Given the description of an element on the screen output the (x, y) to click on. 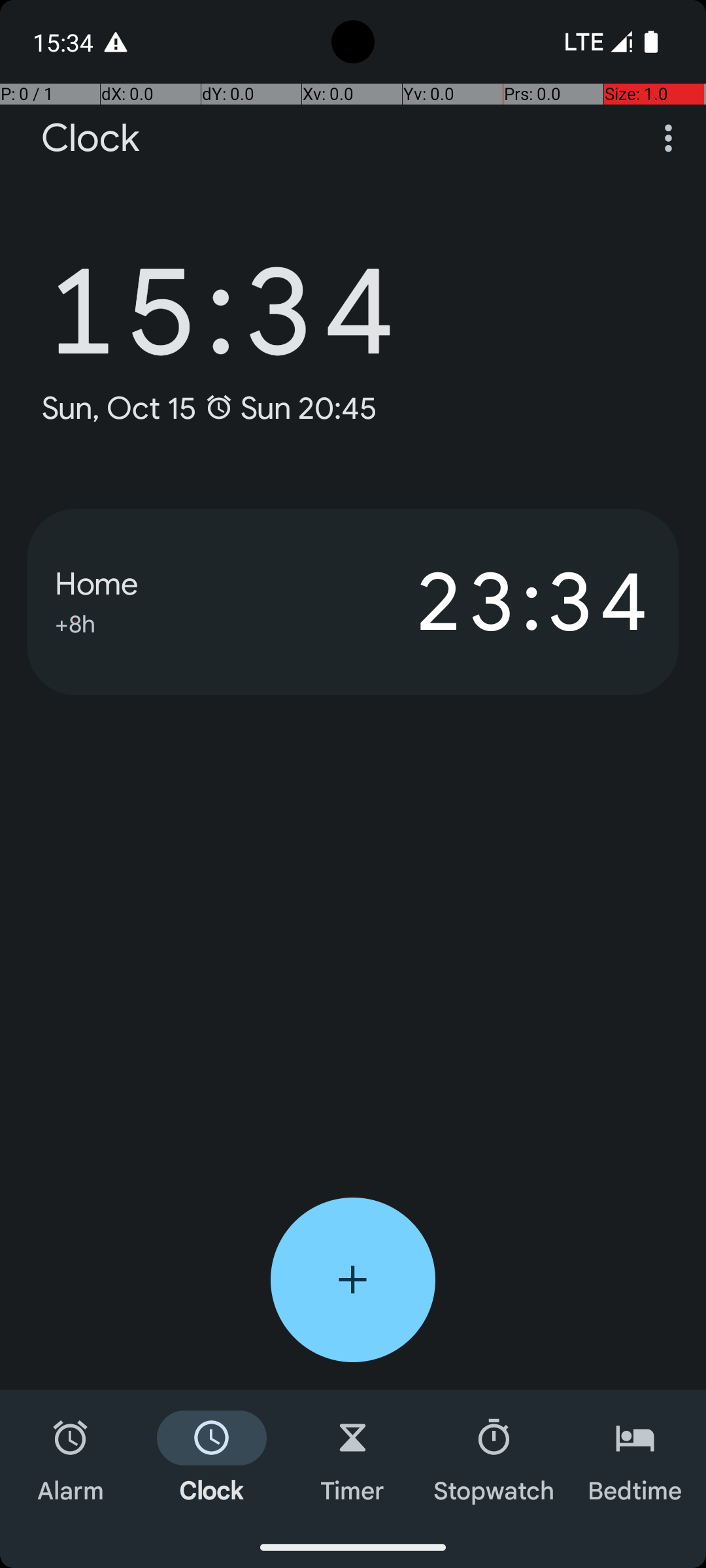
Add city Element type: android.widget.Button (352, 1279)
Sun, Oct 15 A Sun 20:45 Element type: android.widget.TextView (208, 407)
+8h Element type: android.widget.TextView (74, 621)
23:34 Element type: android.widget.TextView (502, 601)
